Given the description of an element on the screen output the (x, y) to click on. 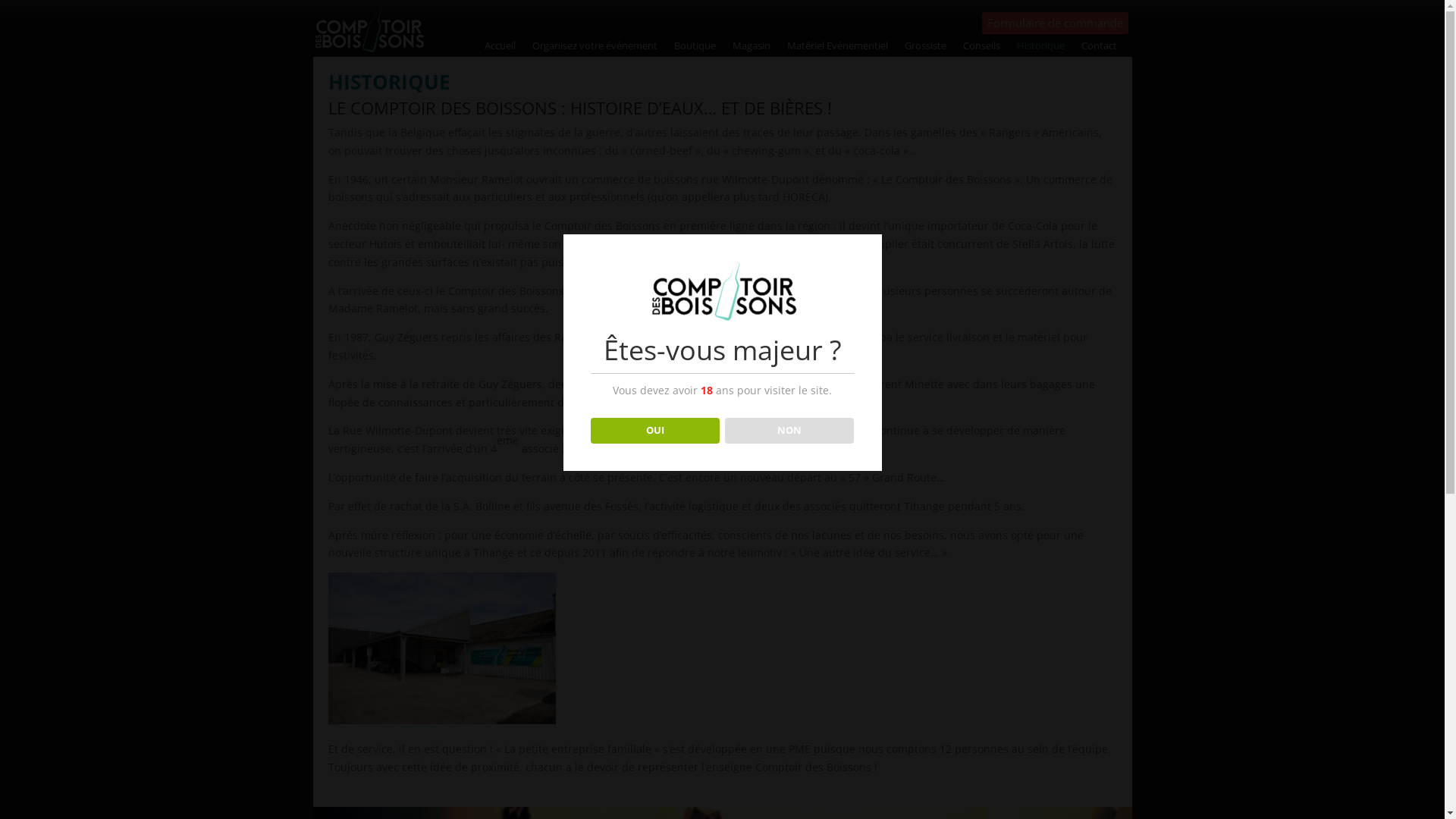
Conseils Element type: text (981, 48)
Boutique Element type: text (694, 48)
Magasin Element type: text (751, 48)
Historique Element type: text (1040, 48)
Contact Element type: text (1099, 48)
Formulaire de commande Element type: text (1054, 23)
NON Element type: text (789, 430)
Accueil Element type: text (499, 48)
OUI Element type: text (655, 430)
Grossiste Element type: text (925, 48)
